Given the description of an element on the screen output the (x, y) to click on. 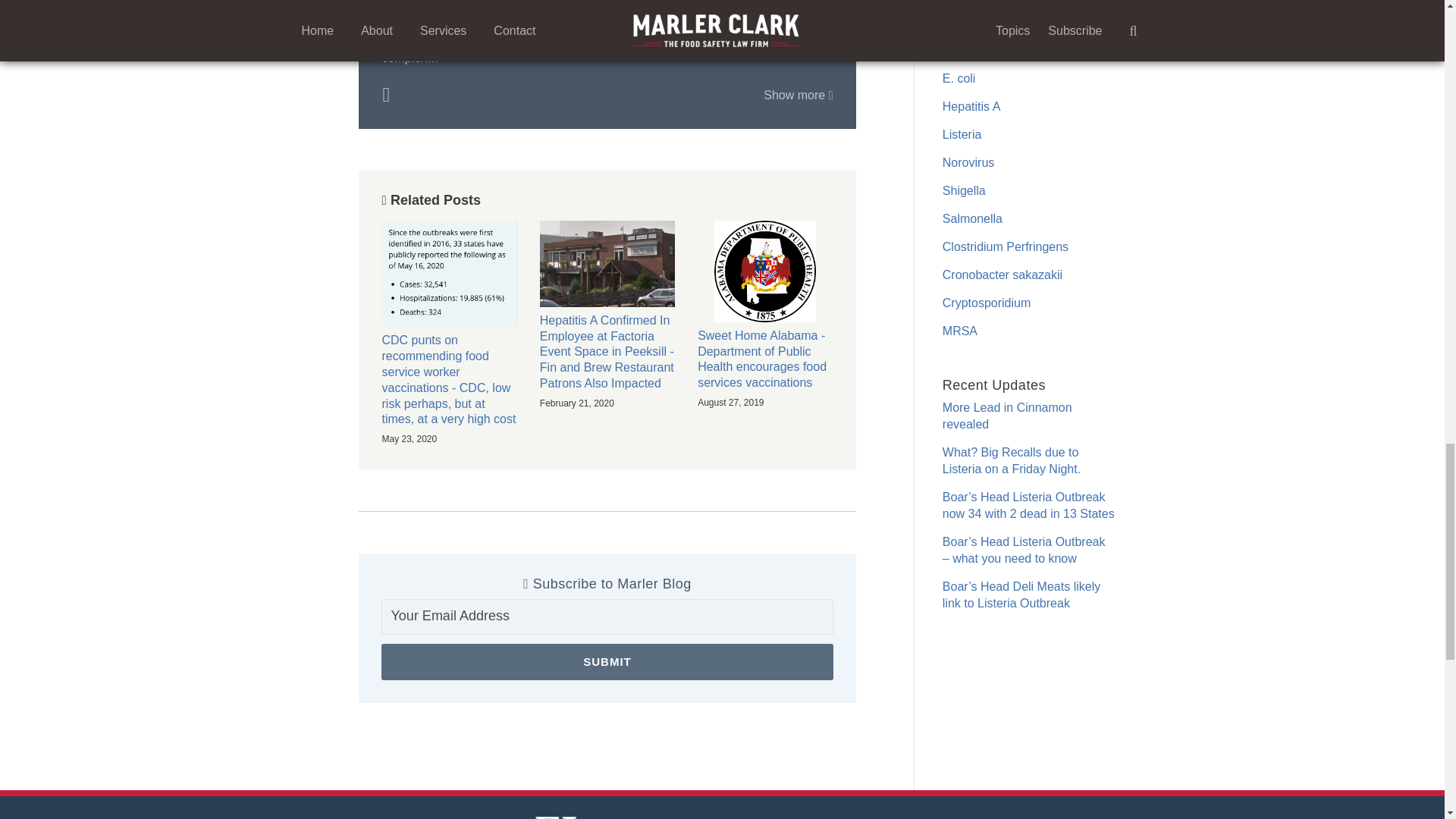
Show more (797, 94)
Submit (606, 661)
Submit (606, 661)
